Given the description of an element on the screen output the (x, y) to click on. 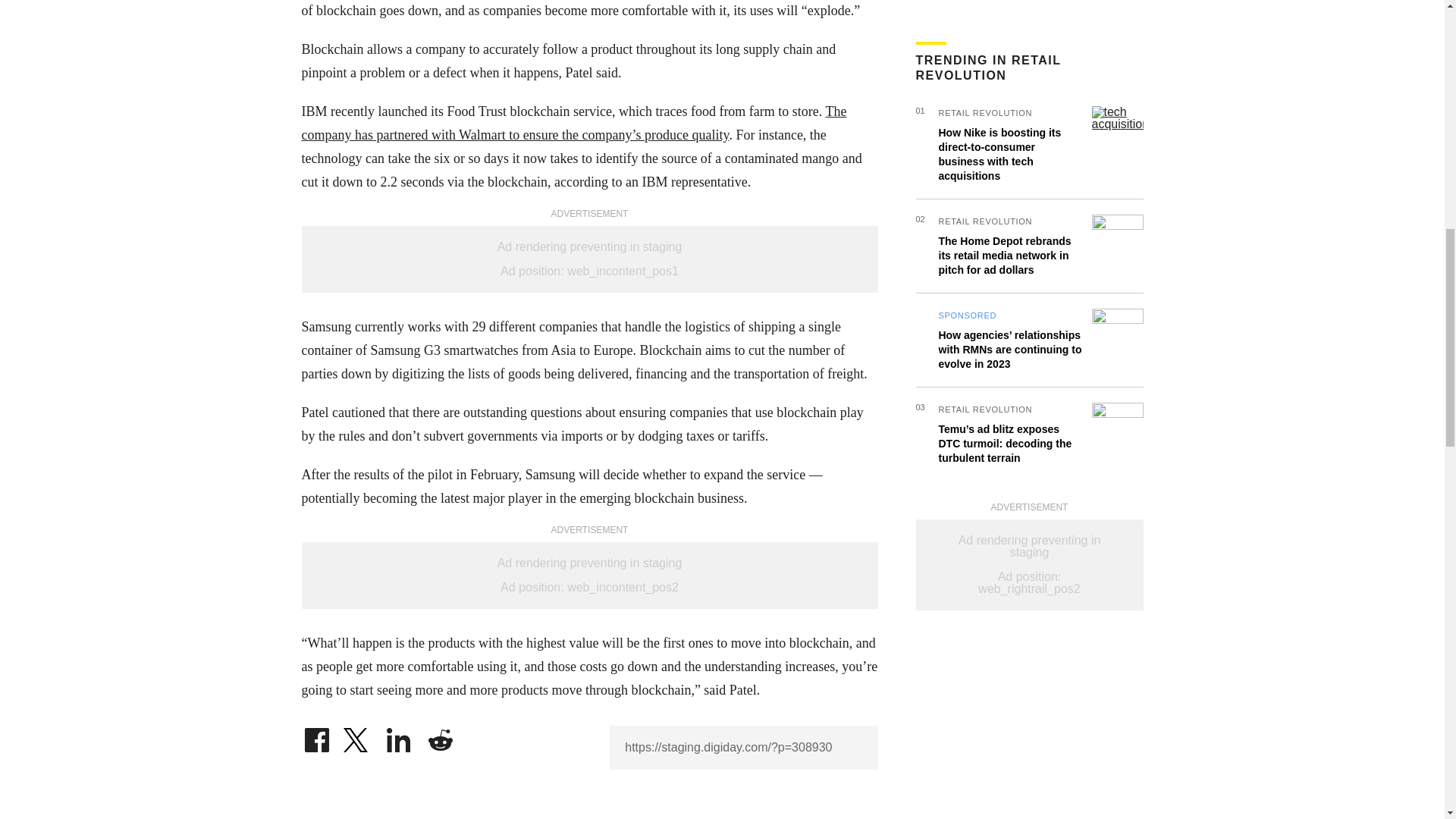
Share on LinkedIn (398, 735)
Share on Twitter (357, 735)
Share on Facebook (316, 735)
Share on Reddit (440, 735)
